Given the description of an element on the screen output the (x, y) to click on. 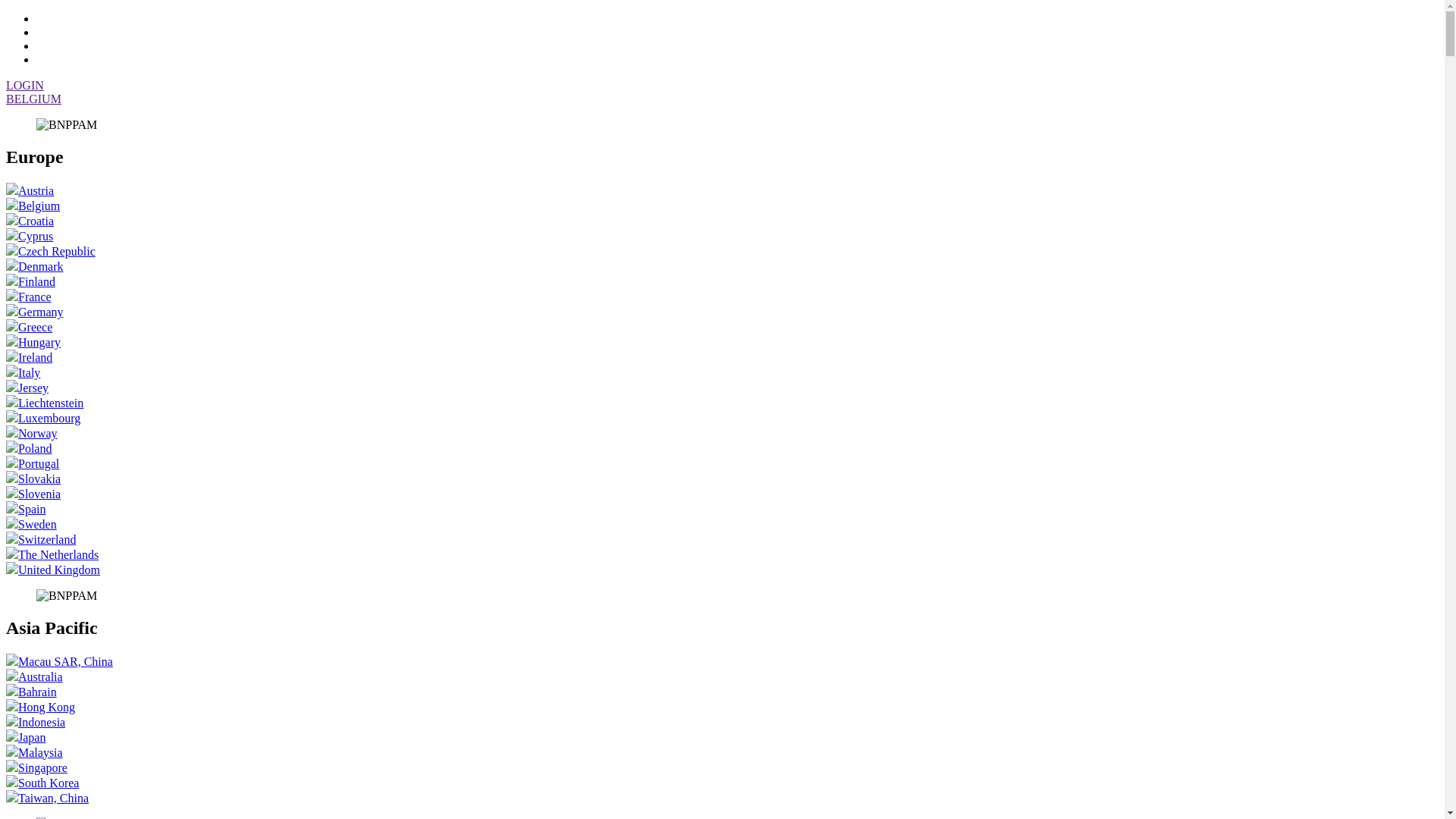
LOGIN Element type: text (24, 84)
Greece Element type: text (29, 326)
Liechtenstein Element type: text (44, 402)
Macau SAR, China Element type: text (59, 661)
France Element type: text (28, 296)
Spain Element type: text (25, 508)
United Kingdom Element type: text (53, 569)
Luxembourg Element type: text (43, 417)
Indonesia Element type: text (35, 721)
Hong Kong Element type: text (40, 706)
Germany Element type: text (34, 311)
Australia Element type: text (34, 676)
Finland Element type: text (30, 281)
Slovakia Element type: text (33, 478)
Ireland Element type: text (29, 357)
BELGIUM Element type: text (33, 98)
Croatia Element type: text (29, 220)
Austria Element type: text (29, 190)
Belgium Element type: text (32, 205)
Portugal Element type: text (32, 463)
Norway Element type: text (31, 432)
Jersey Element type: text (27, 387)
Singapore Element type: text (36, 767)
South Korea Element type: text (42, 782)
Poland Element type: text (28, 448)
Italy Element type: text (23, 372)
Czech Republic Element type: text (50, 250)
Denmark Element type: text (34, 266)
Cyprus Element type: text (29, 235)
Slovenia Element type: text (33, 493)
Malaysia Element type: text (34, 752)
Taiwan, China Element type: text (47, 797)
Hungary Element type: text (33, 341)
Japan Element type: text (25, 737)
The Netherlands Element type: text (52, 554)
Bahrain Element type: text (31, 691)
Sweden Element type: text (31, 523)
Switzerland Element type: text (40, 539)
